Given the description of an element on the screen output the (x, y) to click on. 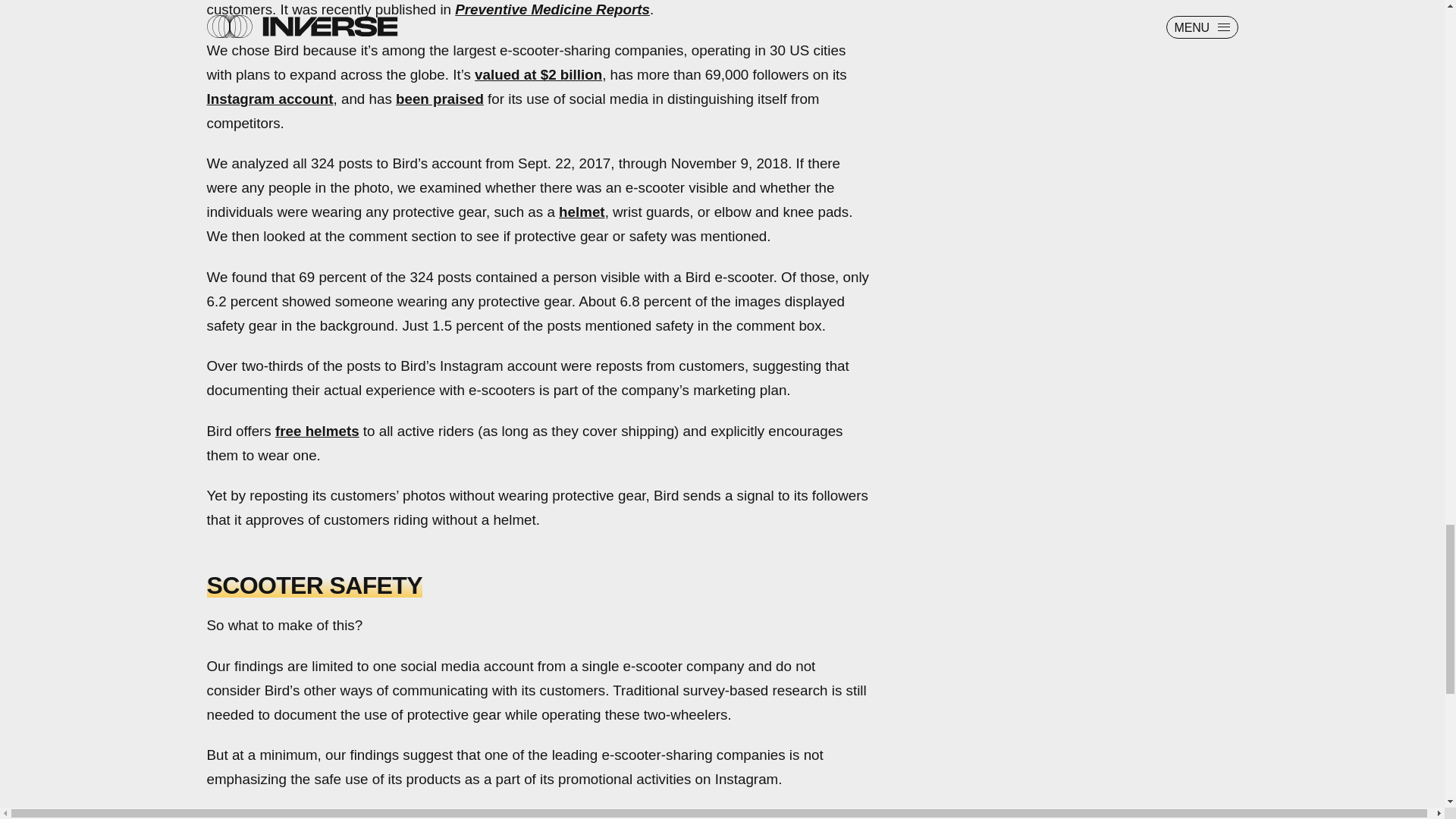
free helmets (317, 430)
California law (568, 815)
Instagram account (269, 98)
Preventive Medicine Reports (551, 9)
been praised (439, 98)
helmet (582, 211)
